Given the description of an element on the screen output the (x, y) to click on. 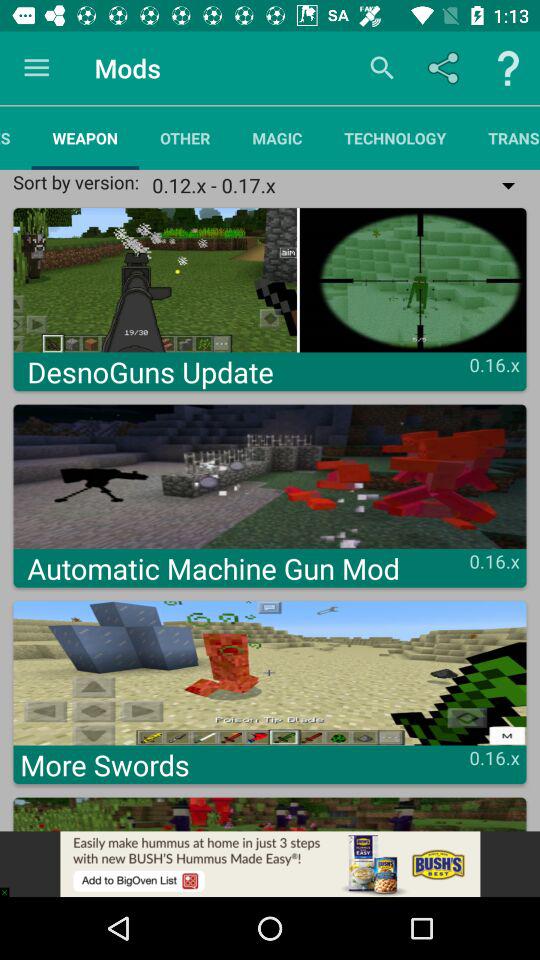
turn on the item next to the resources app (85, 137)
